Given the description of an element on the screen output the (x, y) to click on. 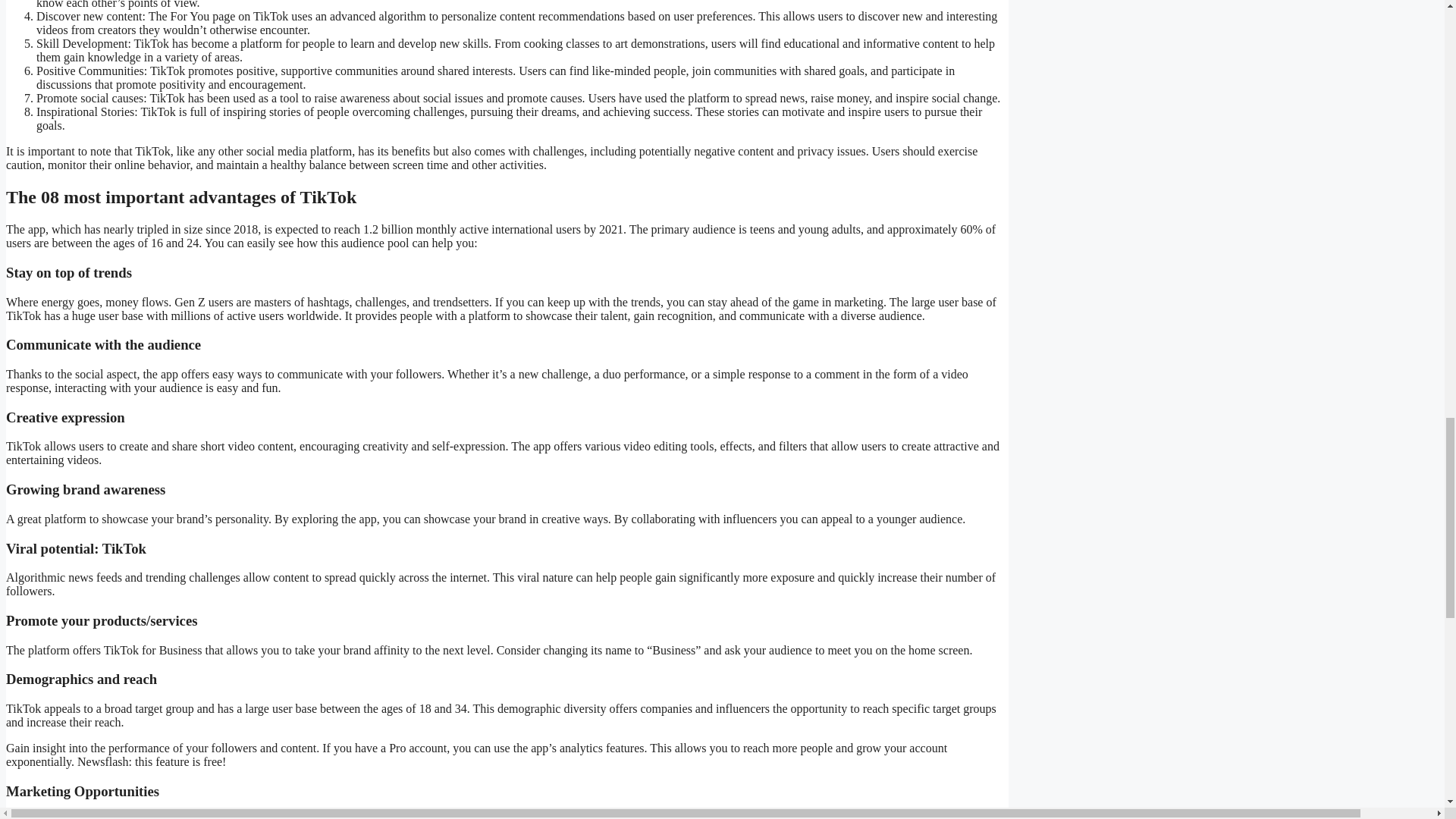
businesses (100, 816)
